Given the description of an element on the screen output the (x, y) to click on. 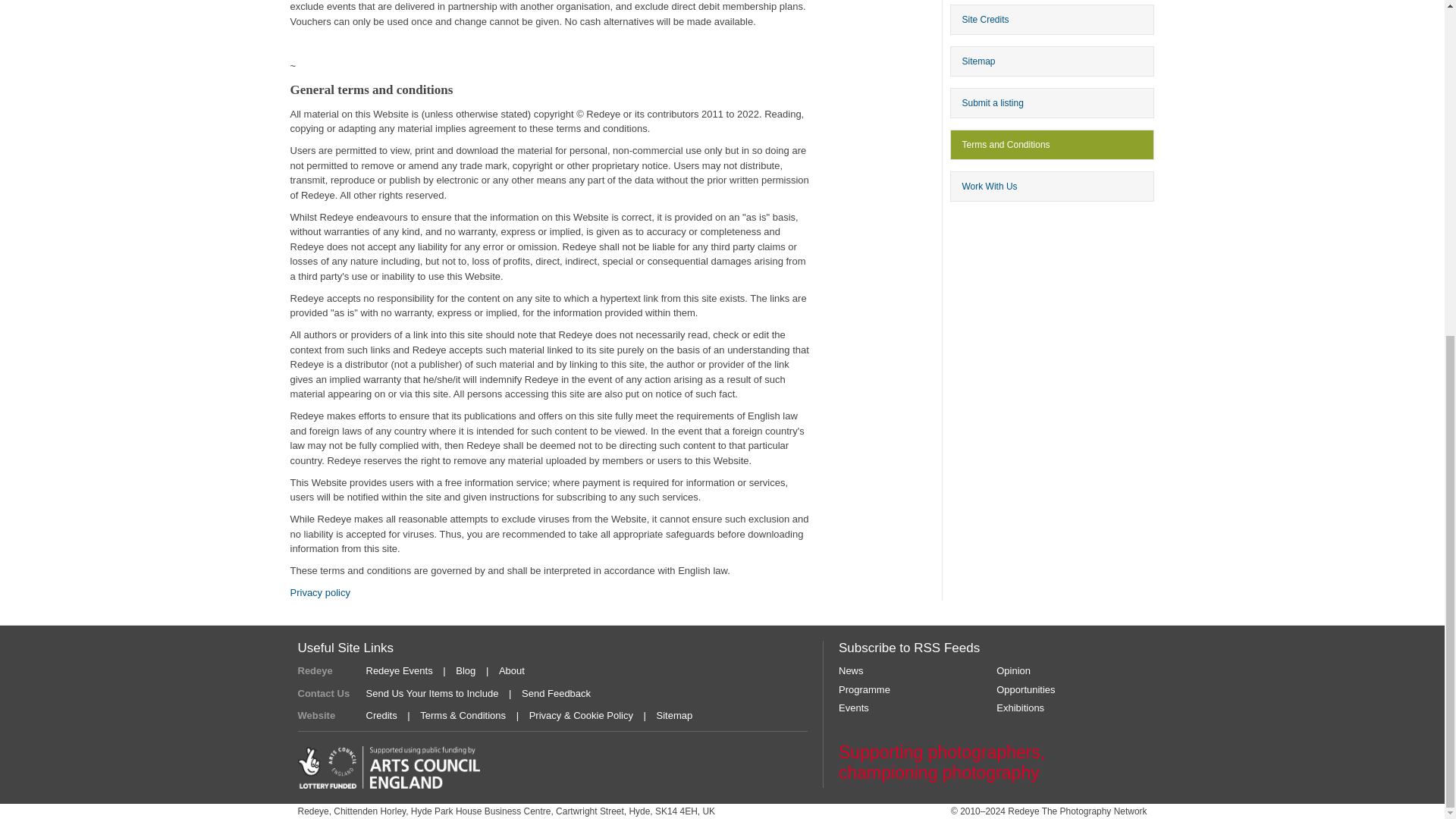
Privacy policy (319, 592)
